Given the description of an element on the screen output the (x, y) to click on. 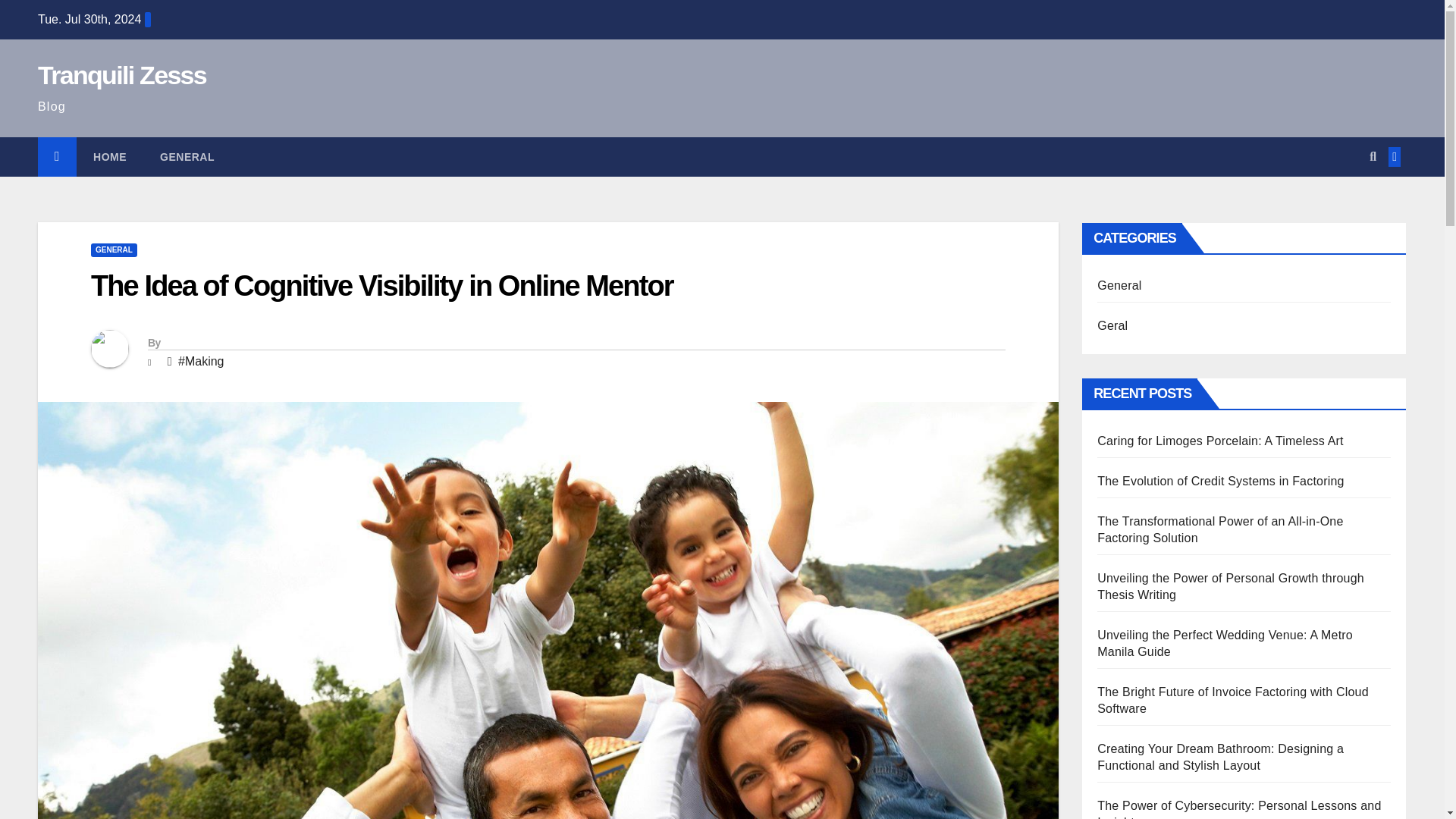
Home (109, 156)
The Idea of Cognitive Visibility in Online Mentor (381, 286)
GENERAL (186, 156)
HOME (109, 156)
General (186, 156)
Tranquili Zesss (121, 74)
GENERAL (113, 250)
